Given the description of an element on the screen output the (x, y) to click on. 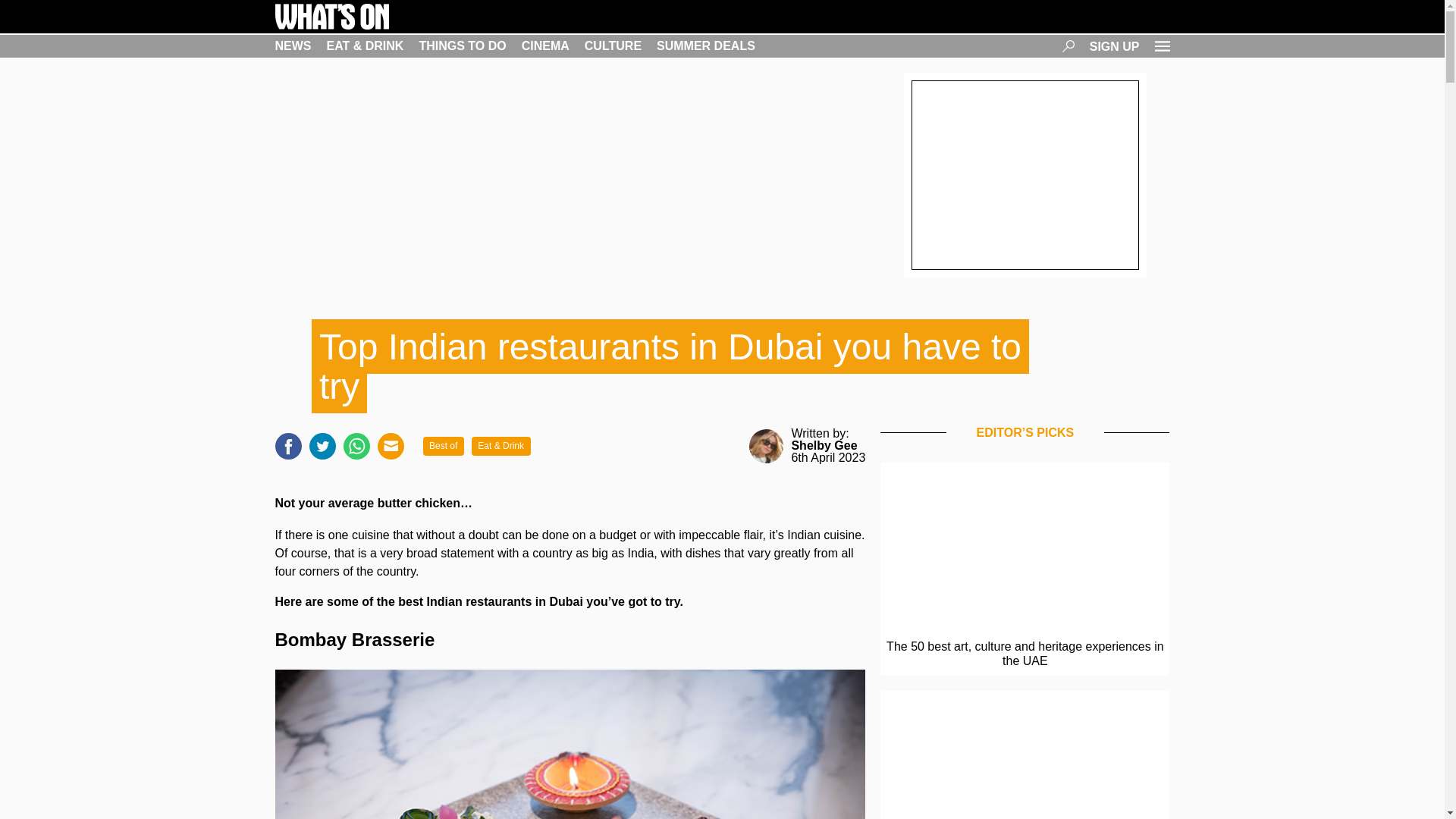
CULTURE (613, 45)
NEWS (293, 45)
SUMMER DEALS (705, 45)
SIGN UP (1114, 45)
THINGS TO DO (462, 45)
CINEMA (545, 45)
